Given the description of an element on the screen output the (x, y) to click on. 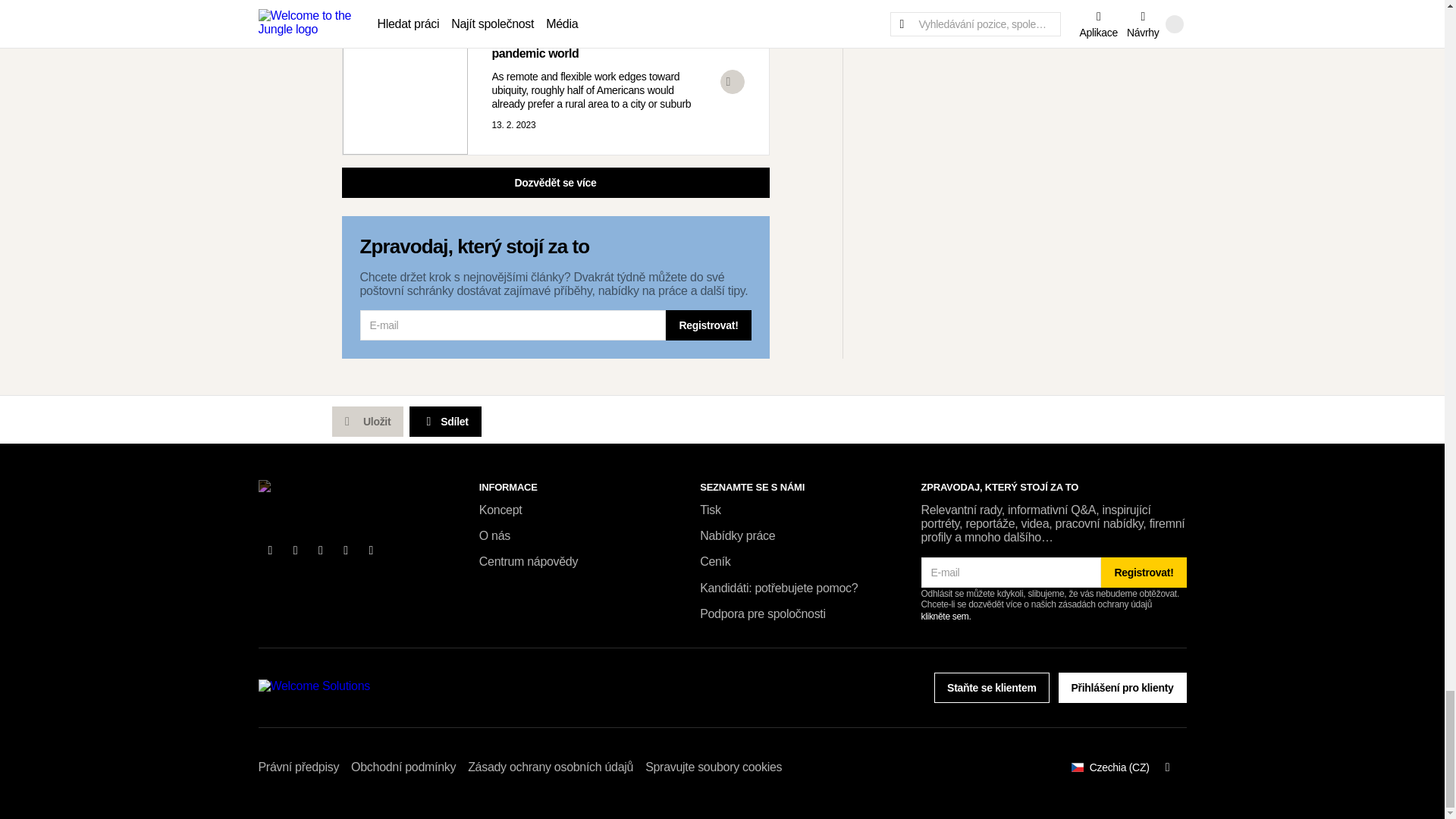
Facebook (269, 550)
Instagram (371, 550)
YouTube (345, 550)
Welcome to the Jungle (319, 493)
Twitter (295, 550)
LinkedIn (320, 550)
